Given the description of an element on the screen output the (x, y) to click on. 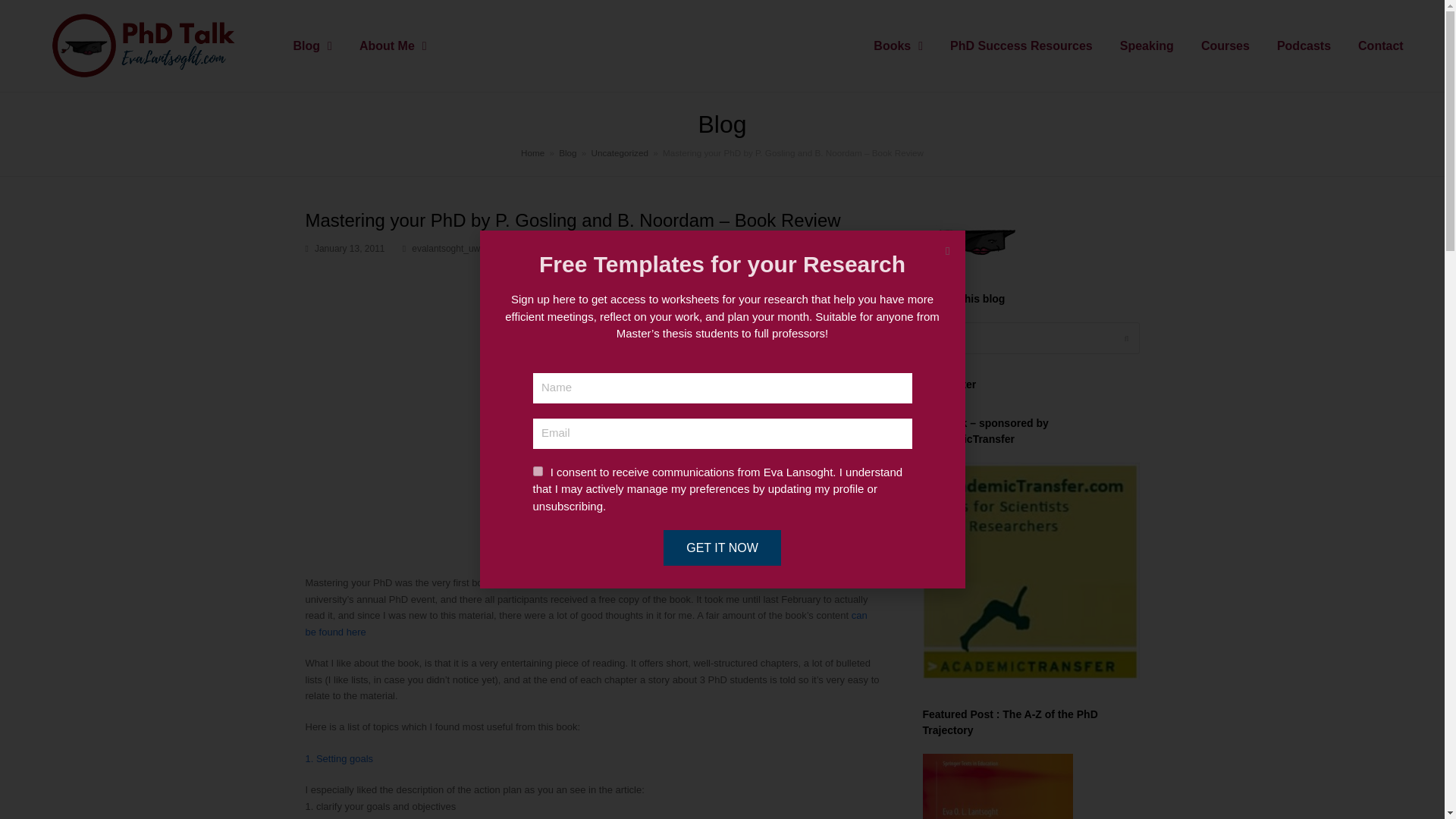
on (536, 470)
PhD Success Resources (1021, 45)
Speaking (1147, 45)
2 Comments (632, 249)
Contact (1379, 45)
Courses (1225, 45)
About Me (393, 45)
PhD Talk - sponsored by AcademicTransfer (1029, 570)
Books (898, 45)
Blog (312, 45)
Podcasts (1303, 45)
